Given the description of an element on the screen output the (x, y) to click on. 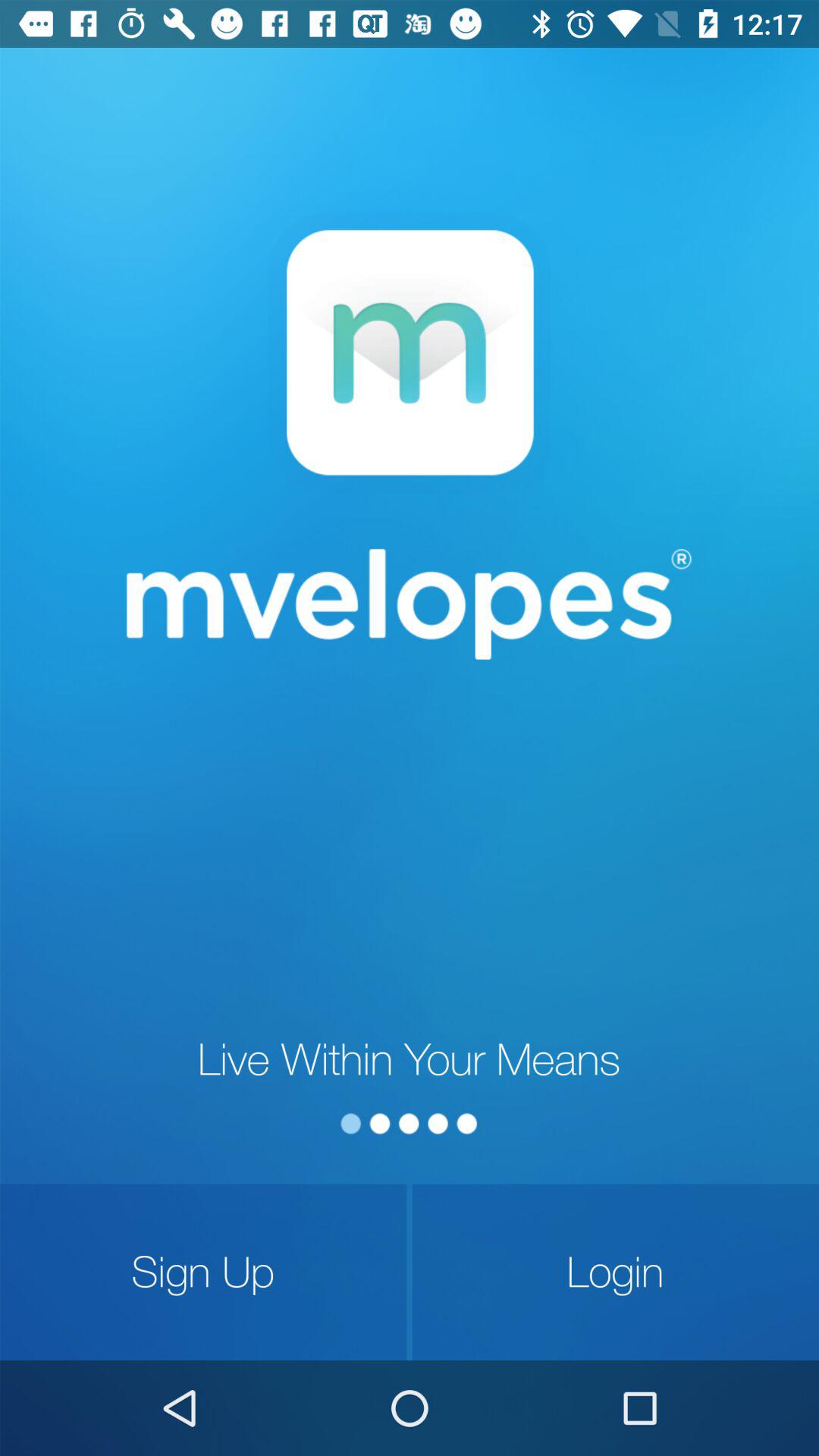
flip to sign up item (203, 1272)
